Given the description of an element on the screen output the (x, y) to click on. 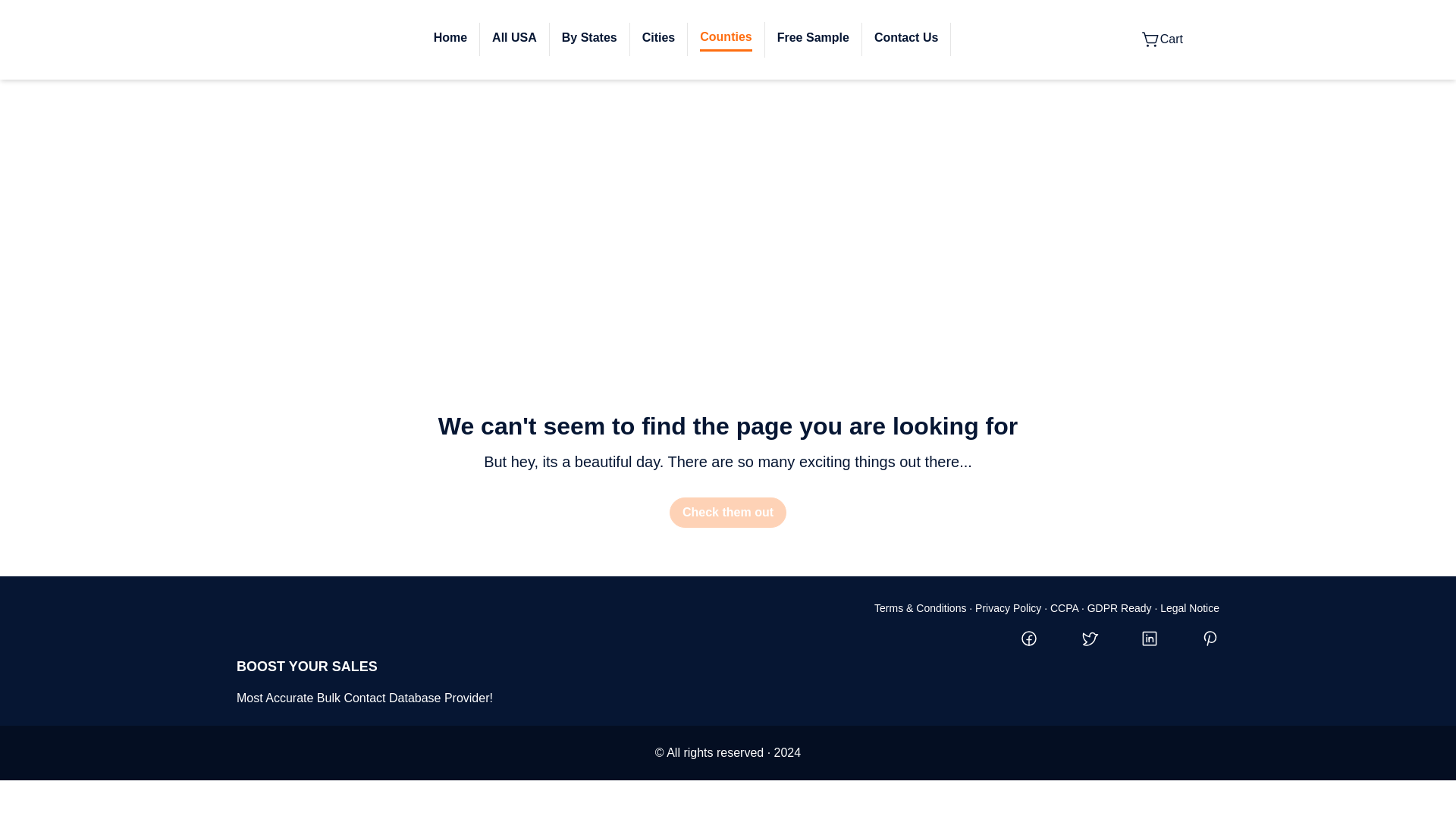
Contact Us (906, 37)
Check them out (727, 512)
By States (589, 37)
GDPR Ready (1119, 607)
All USA (514, 37)
Free Sample (812, 37)
Counties (725, 36)
Home (450, 37)
CCPA (1063, 607)
Cities (658, 37)
